Given the description of an element on the screen output the (x, y) to click on. 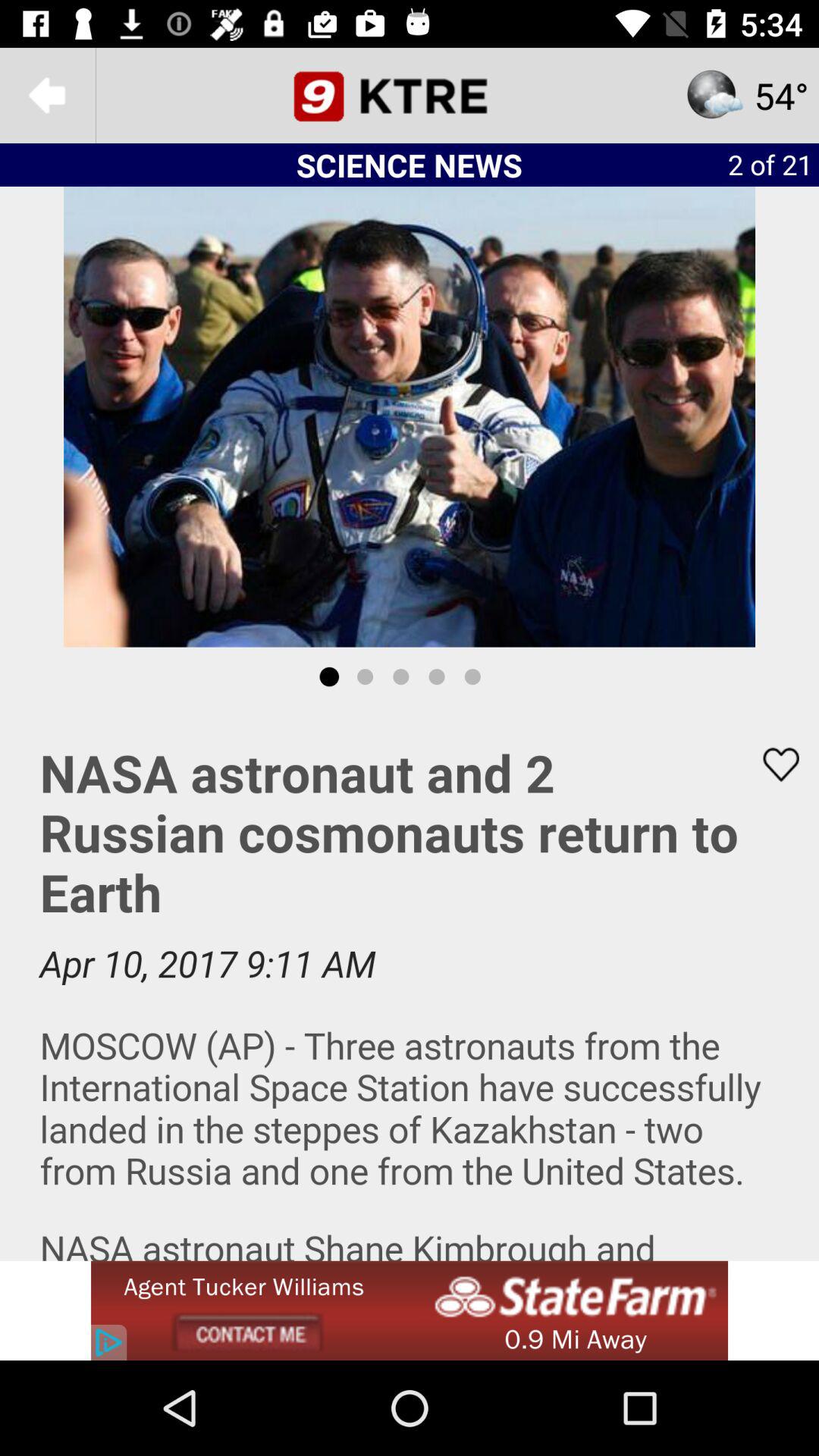
go back (47, 95)
